Given the description of an element on the screen output the (x, y) to click on. 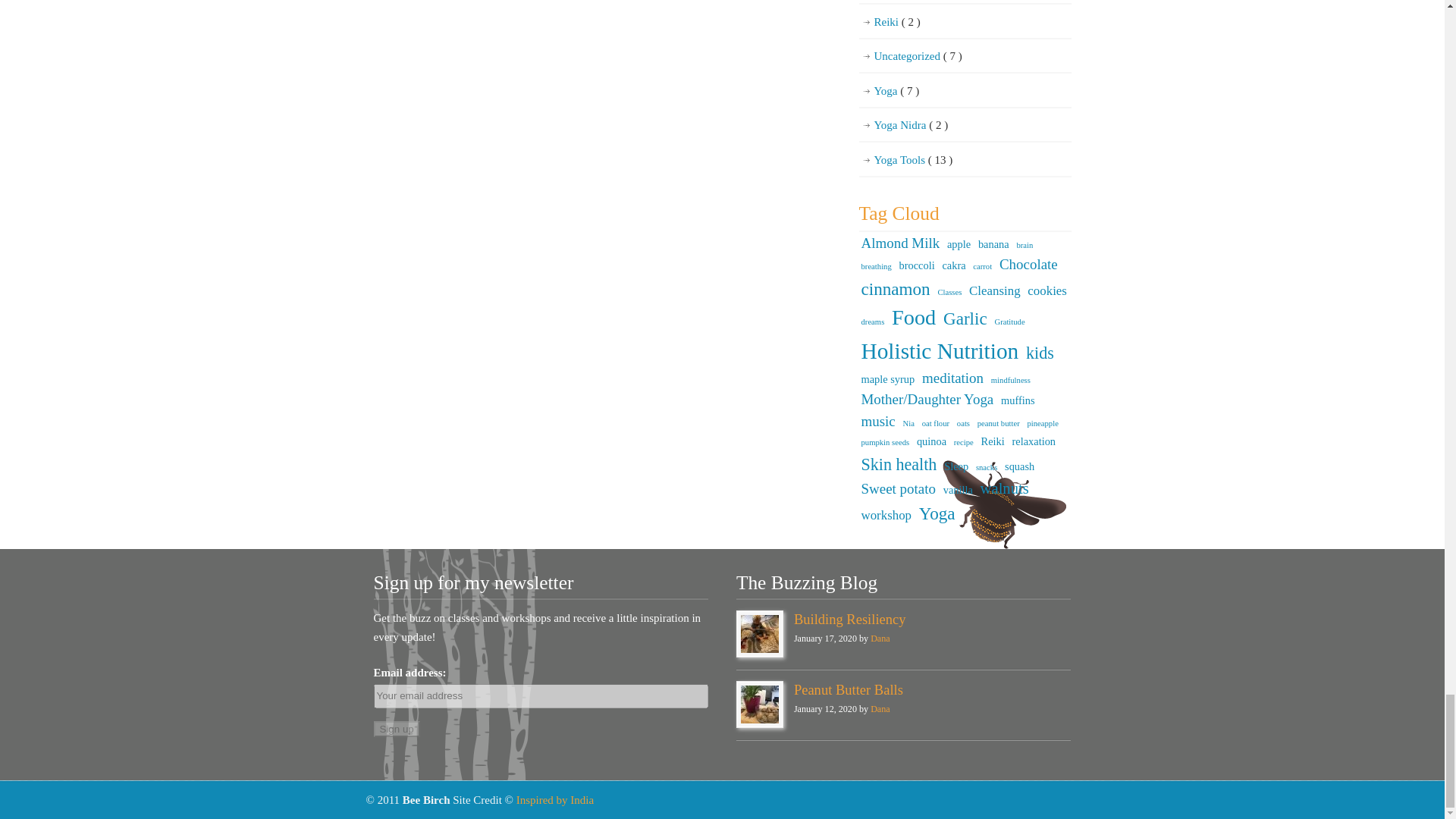
Posts by Dana (879, 638)
Building Resiliency (849, 618)
Building Resiliency (759, 633)
Sign up (395, 729)
Posts by Dana (879, 708)
Peanut Butter Balls (759, 704)
Peanut Butter Balls (847, 689)
